Given the description of an element on the screen output the (x, y) to click on. 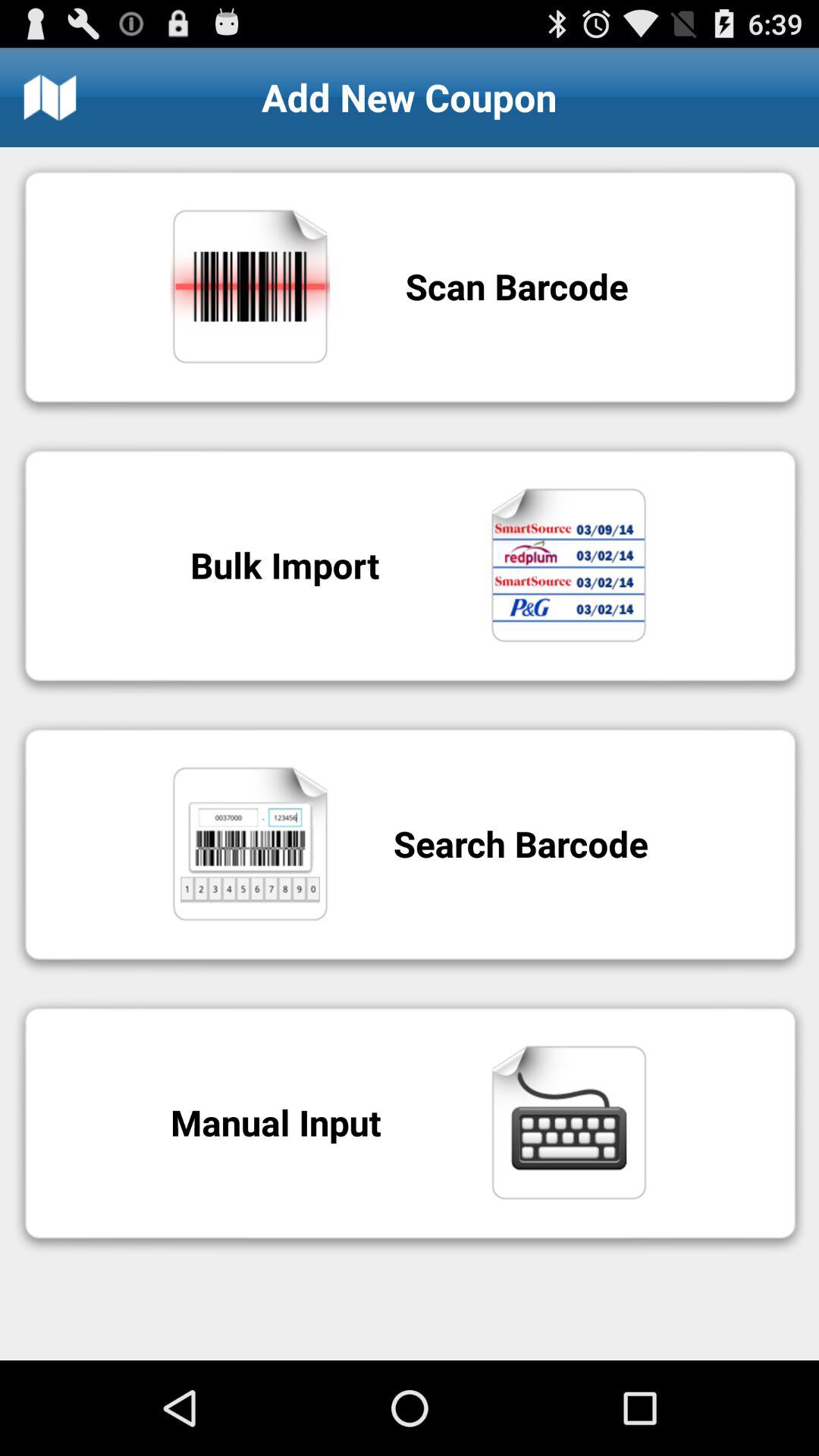
tap the app to the left of add new coupon app (49, 97)
